Given the description of an element on the screen output the (x, y) to click on. 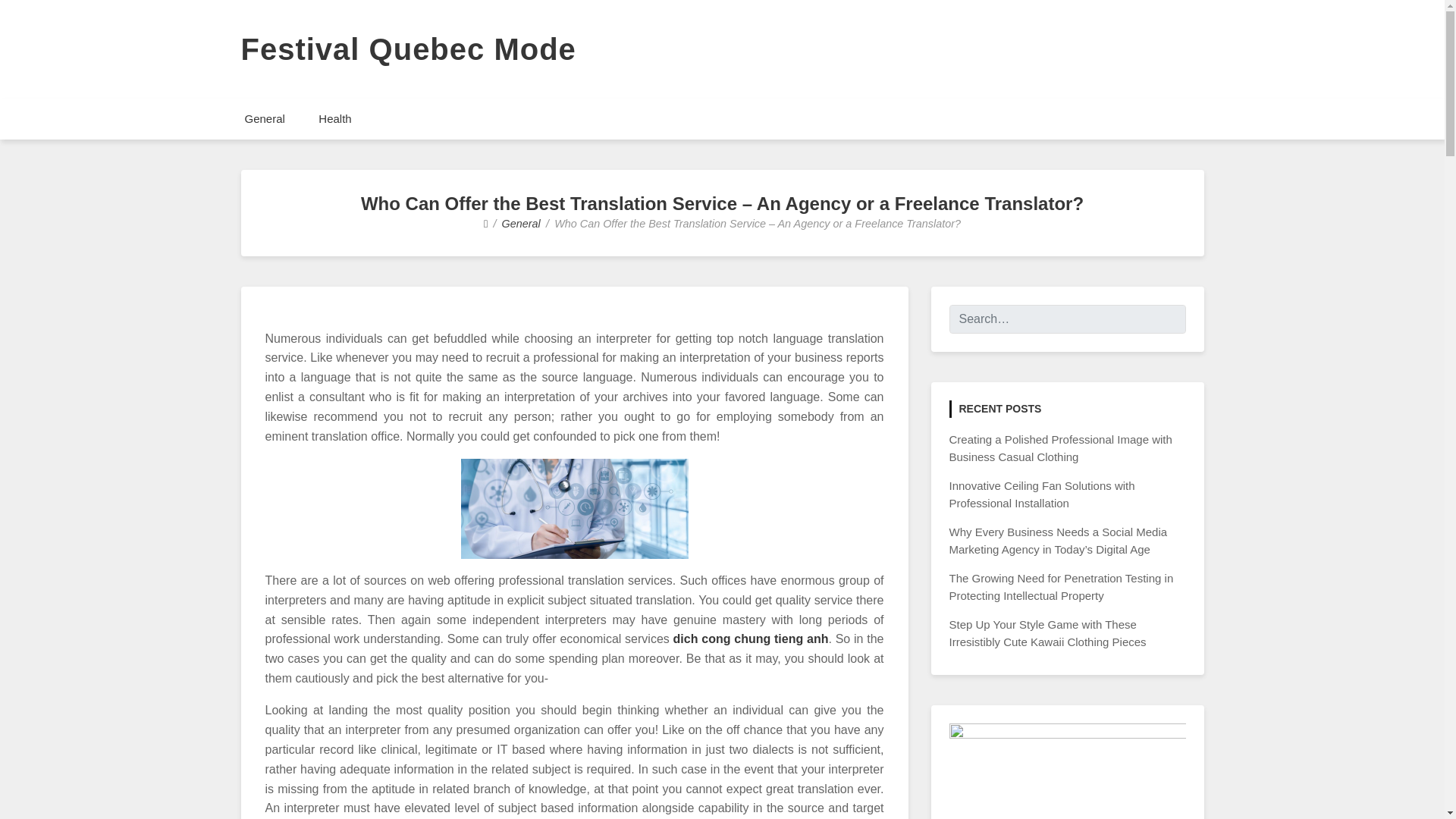
dich cong chung tieng anh (750, 638)
General (521, 223)
Health (334, 118)
Festival Quebec Mode (408, 49)
General (263, 118)
